Given the description of an element on the screen output the (x, y) to click on. 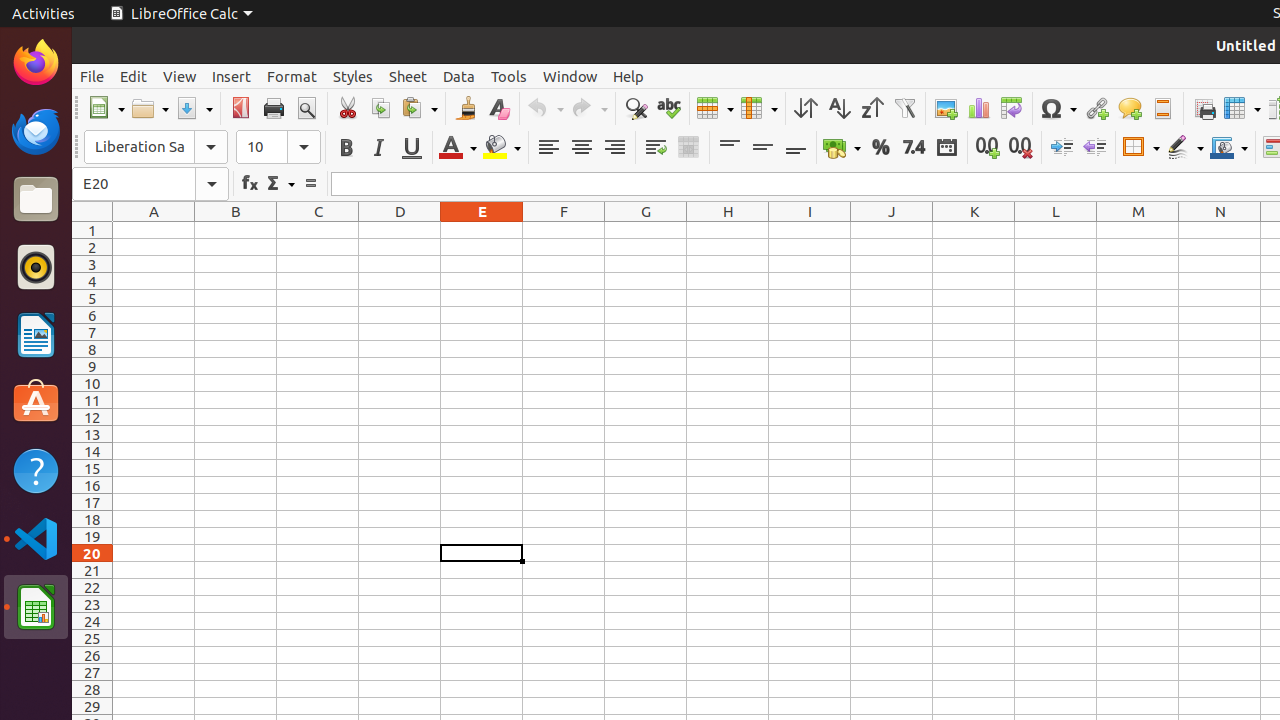
Clear Element type: push-button (498, 108)
Function Wizard Element type: push-button (249, 183)
New Element type: push-button (106, 108)
Print Element type: push-button (273, 108)
Clone Element type: push-button (465, 108)
